Given the description of an element on the screen output the (x, y) to click on. 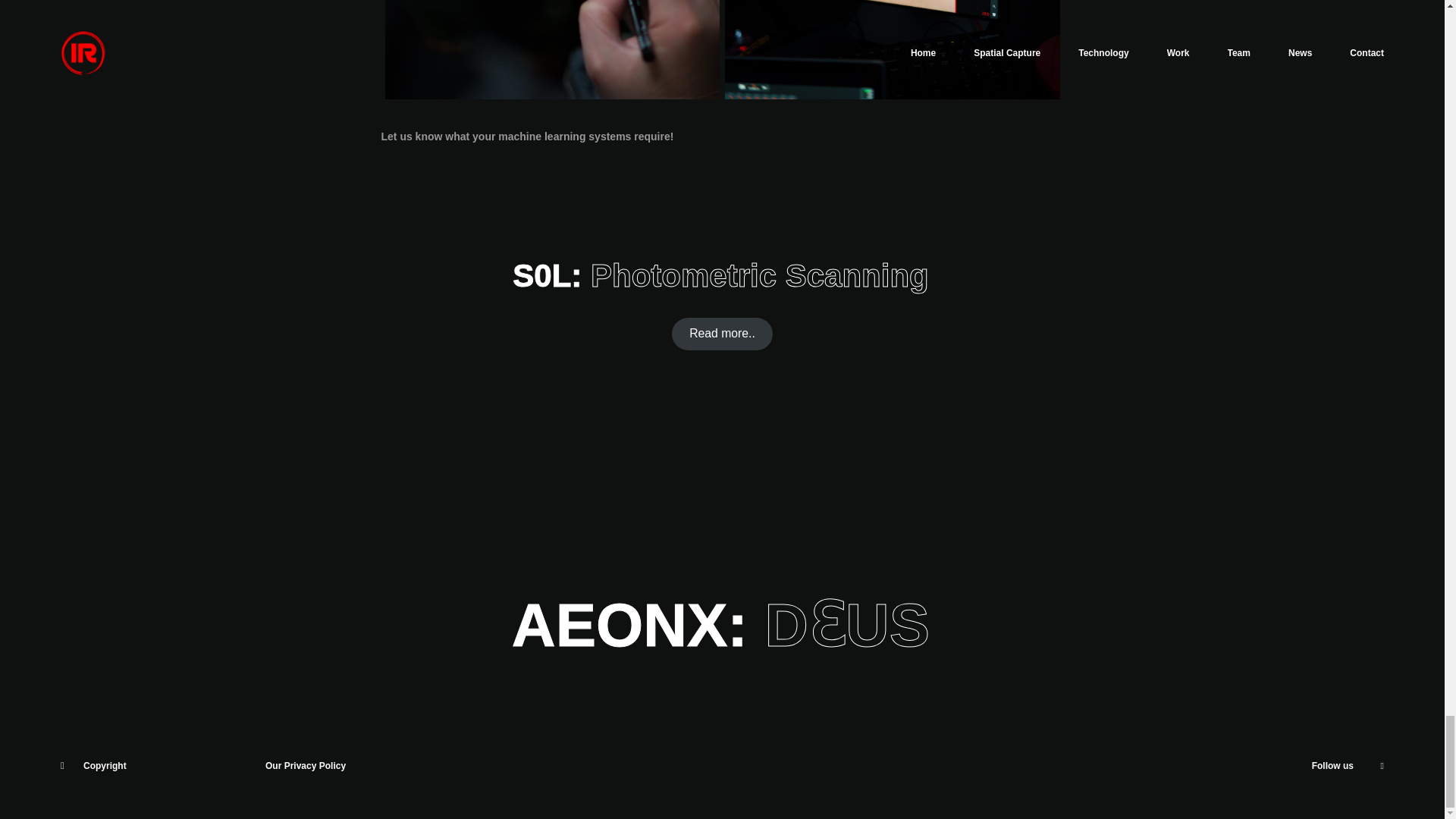
Read more.. (722, 333)
Privacy Policy (314, 765)
